Given the description of an element on the screen output the (x, y) to click on. 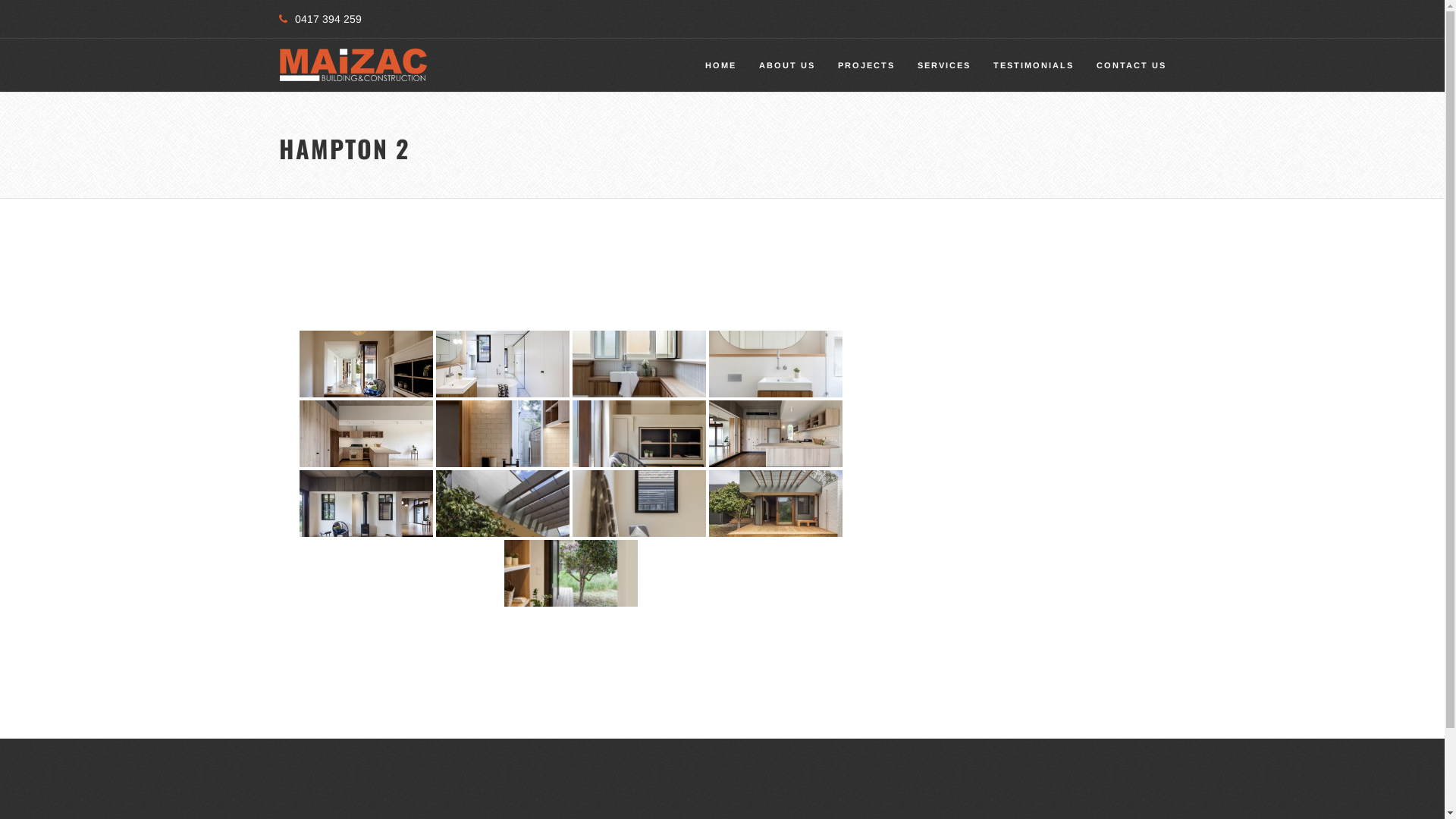
SERVICES Element type: text (943, 64)
ABOUT US Element type: text (786, 64)
TESTIMONIALS Element type: text (1032, 64)
Maizac - Building & Construction Element type: hover (352, 64)
PROJECTS Element type: text (866, 64)
CONTACT US Element type: text (1130, 64)
HOME Element type: text (719, 64)
